Given the description of an element on the screen output the (x, y) to click on. 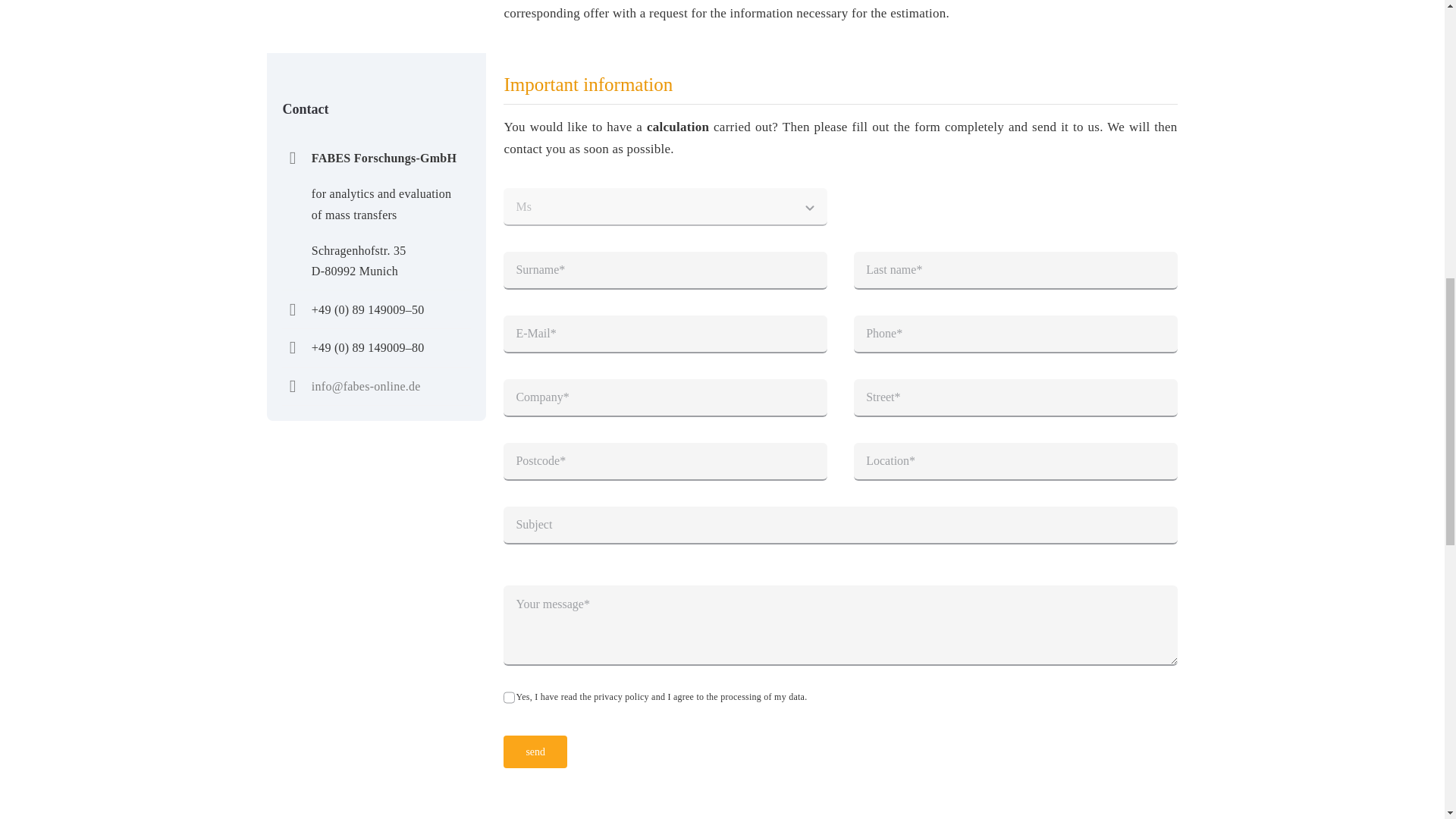
send (535, 751)
